Given the description of an element on the screen output the (x, y) to click on. 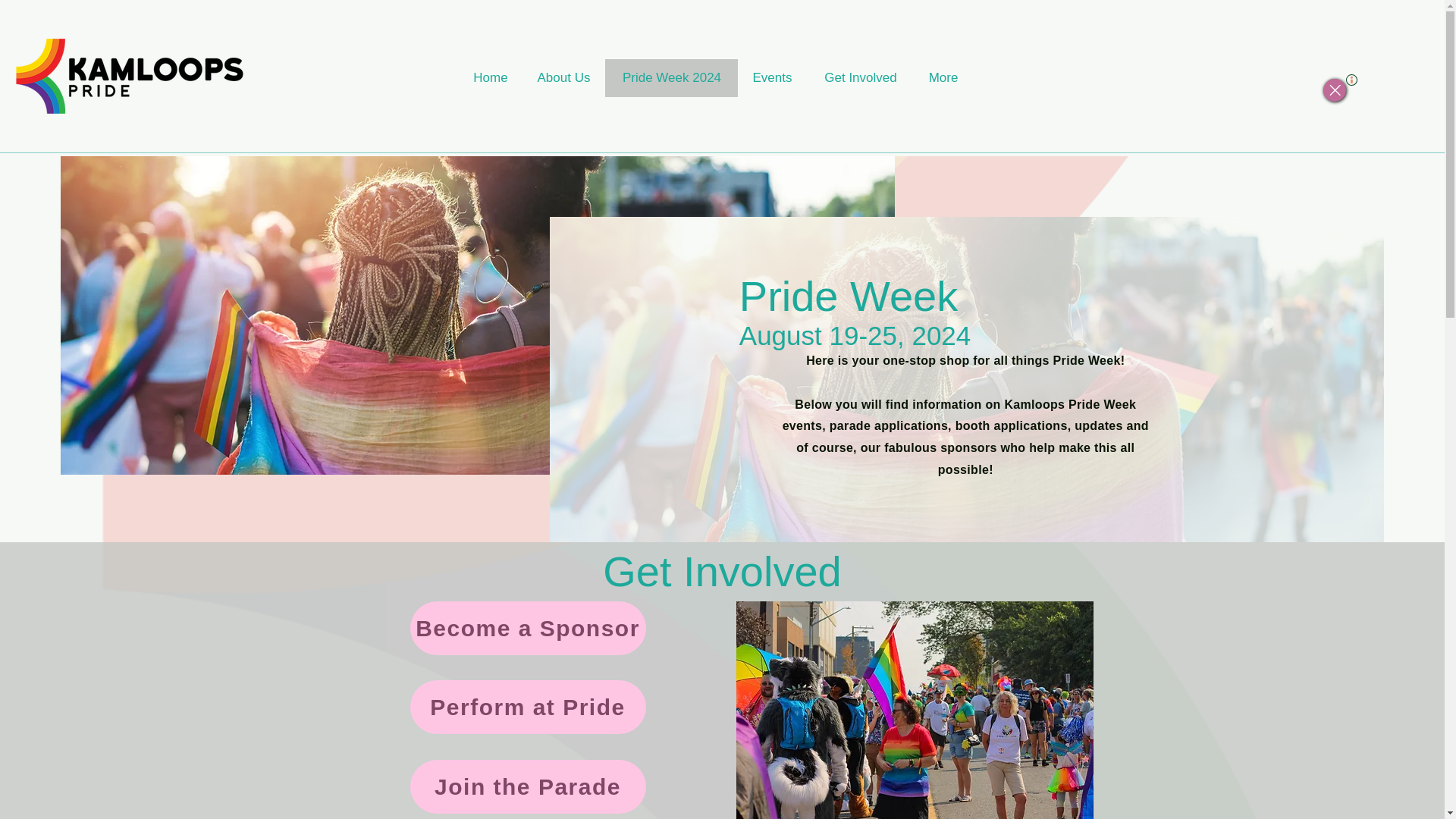
Get Involved (860, 77)
Home (489, 77)
About Us (563, 77)
Perform at Pride (527, 706)
Pride Week 2024 (671, 77)
Join the Parade (527, 787)
Become a Sponsor (527, 628)
Events (772, 77)
